Given the description of an element on the screen output the (x, y) to click on. 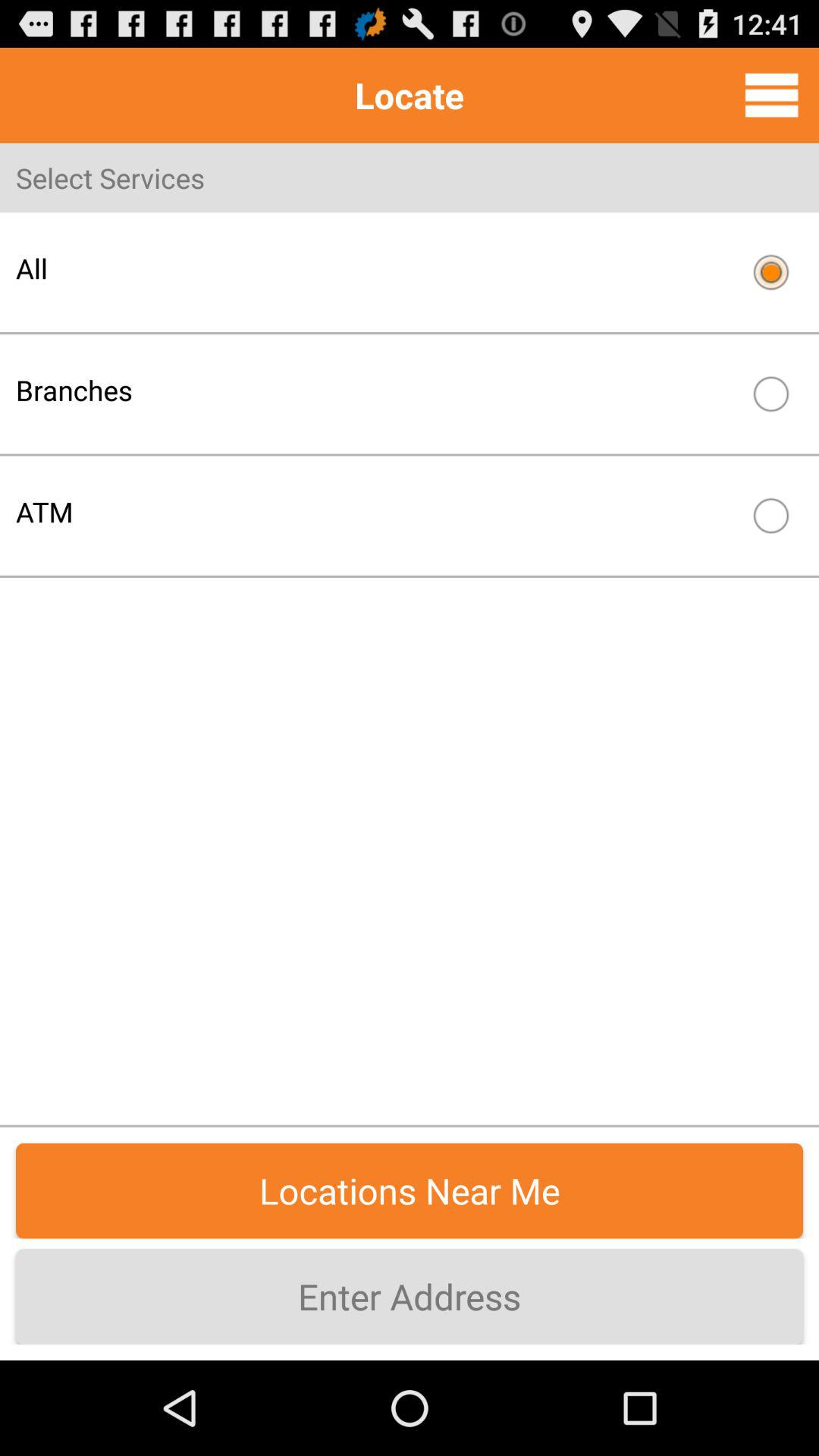
open the icon above enter address icon (409, 1190)
